Given the description of an element on the screen output the (x, y) to click on. 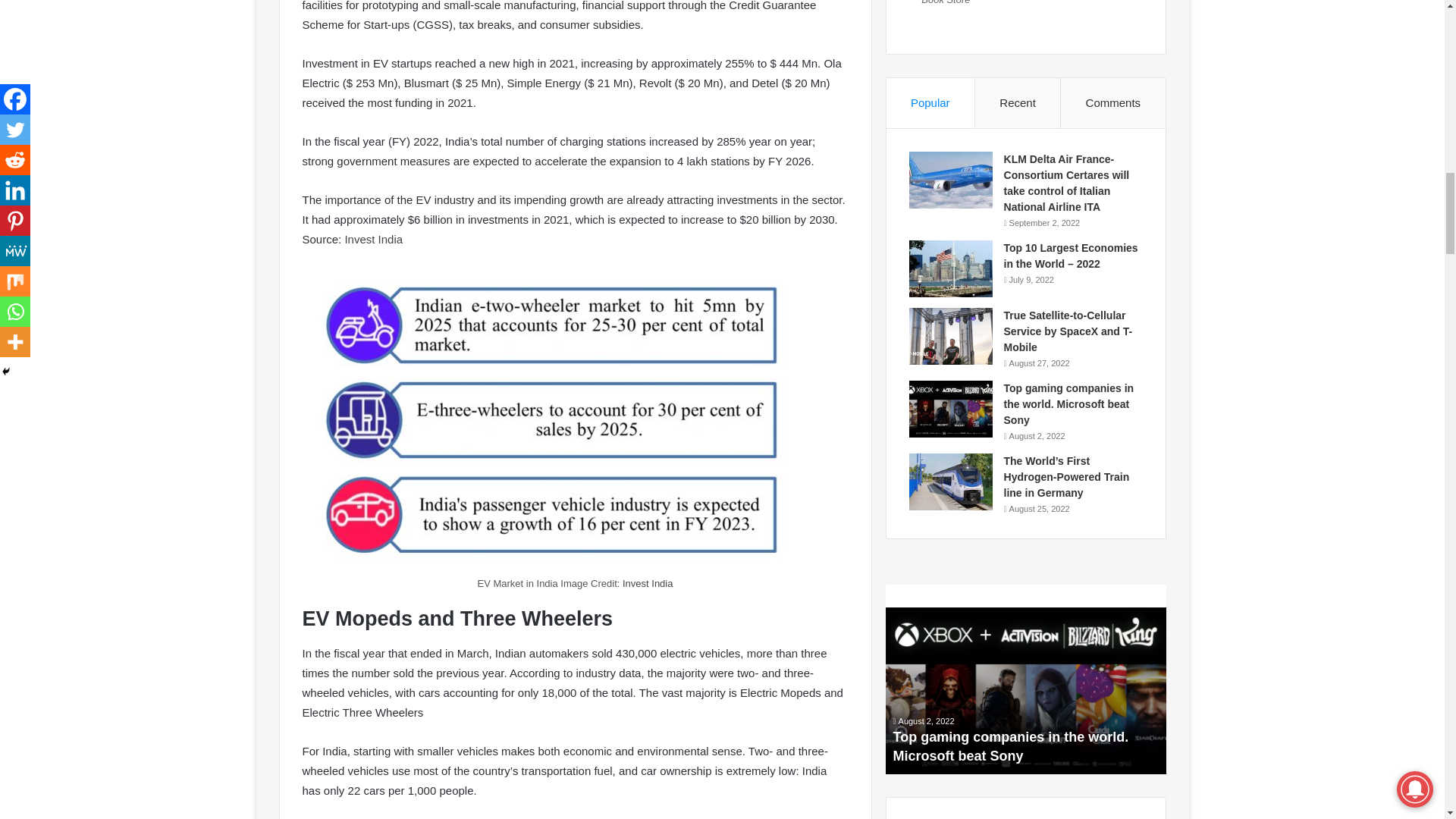
Invest India (373, 238)
Invest India (647, 583)
